Given the description of an element on the screen output the (x, y) to click on. 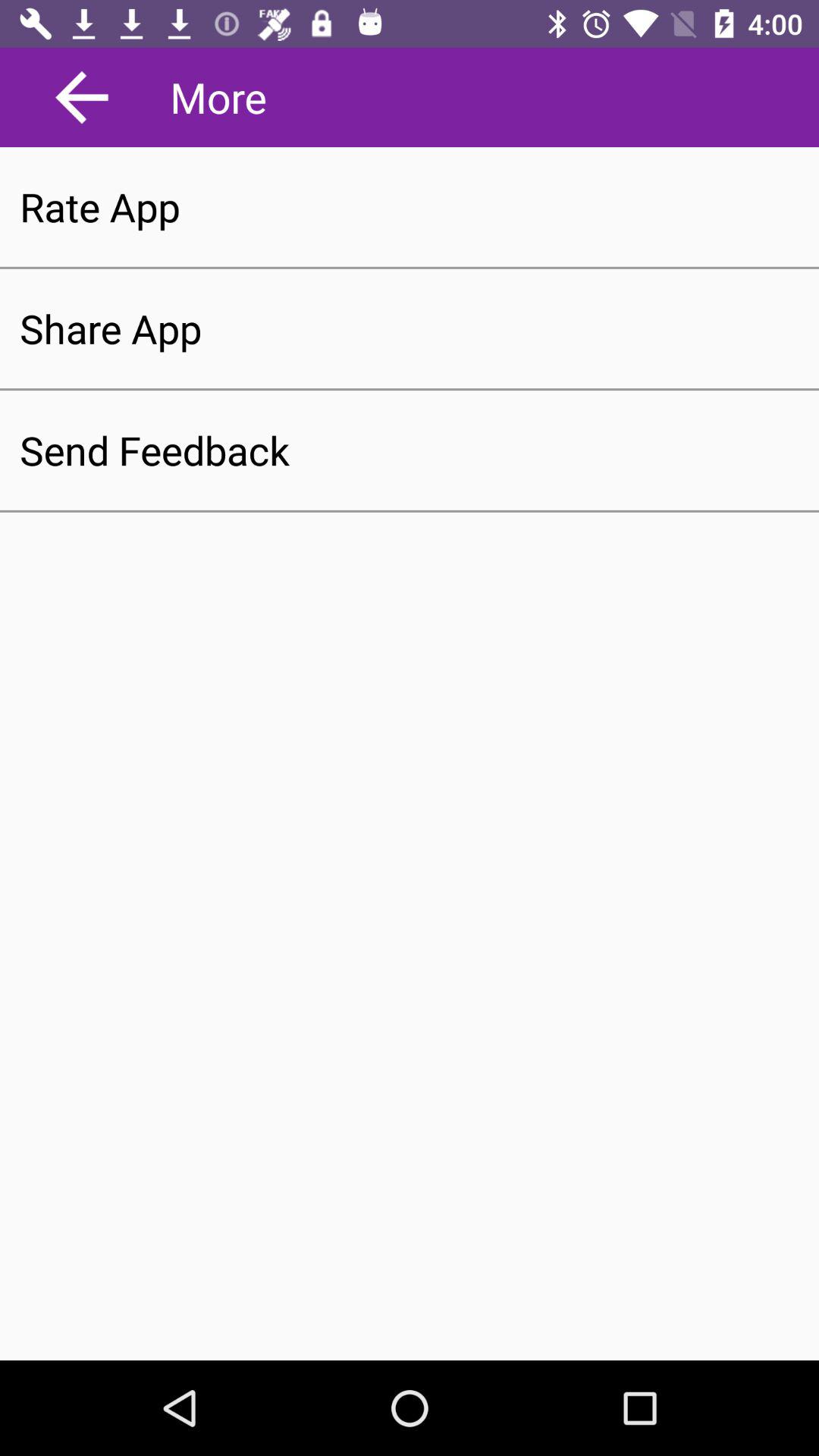
go back (81, 97)
